Given the description of an element on the screen output the (x, y) to click on. 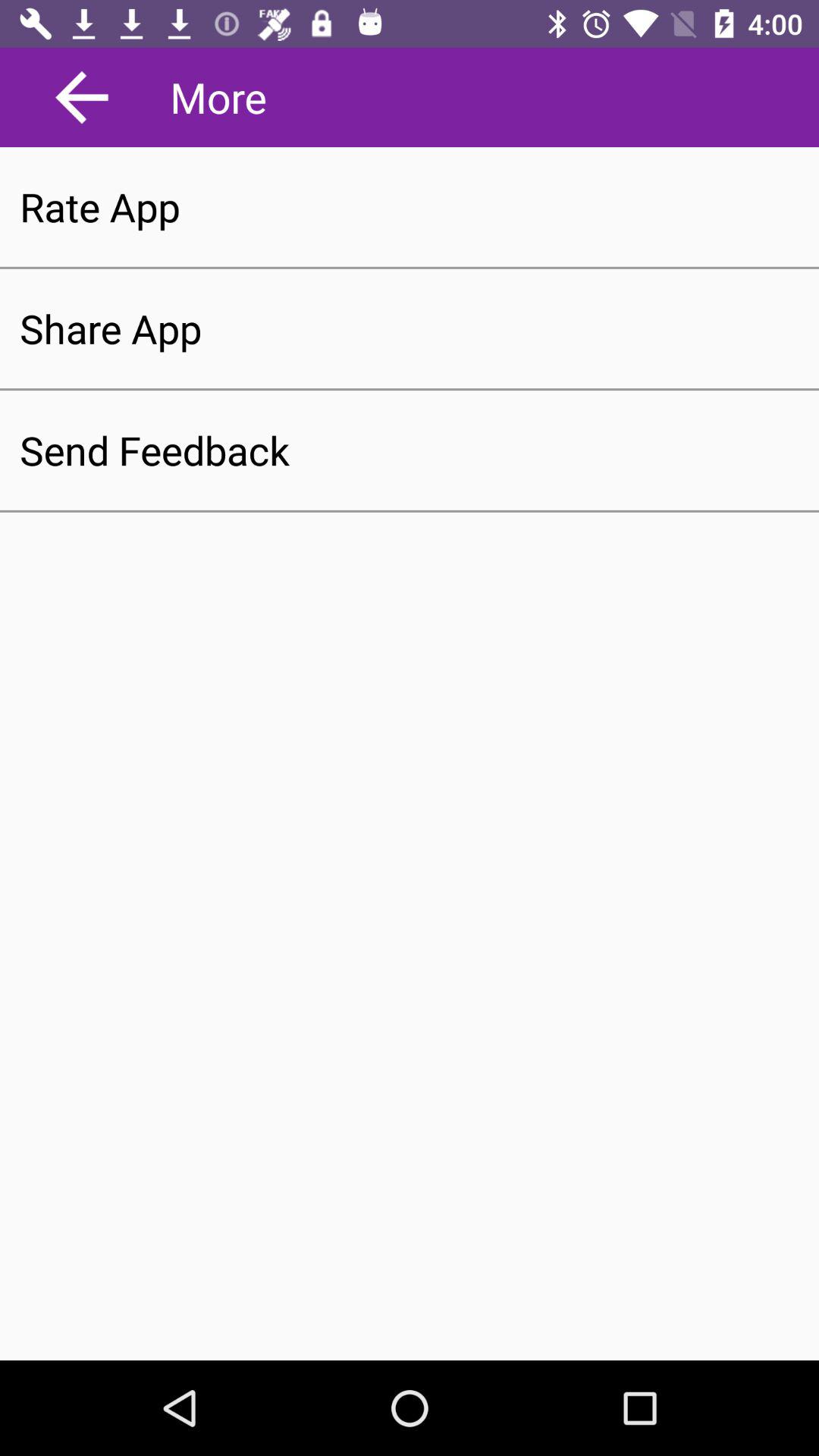
go back (81, 97)
